Given the description of an element on the screen output the (x, y) to click on. 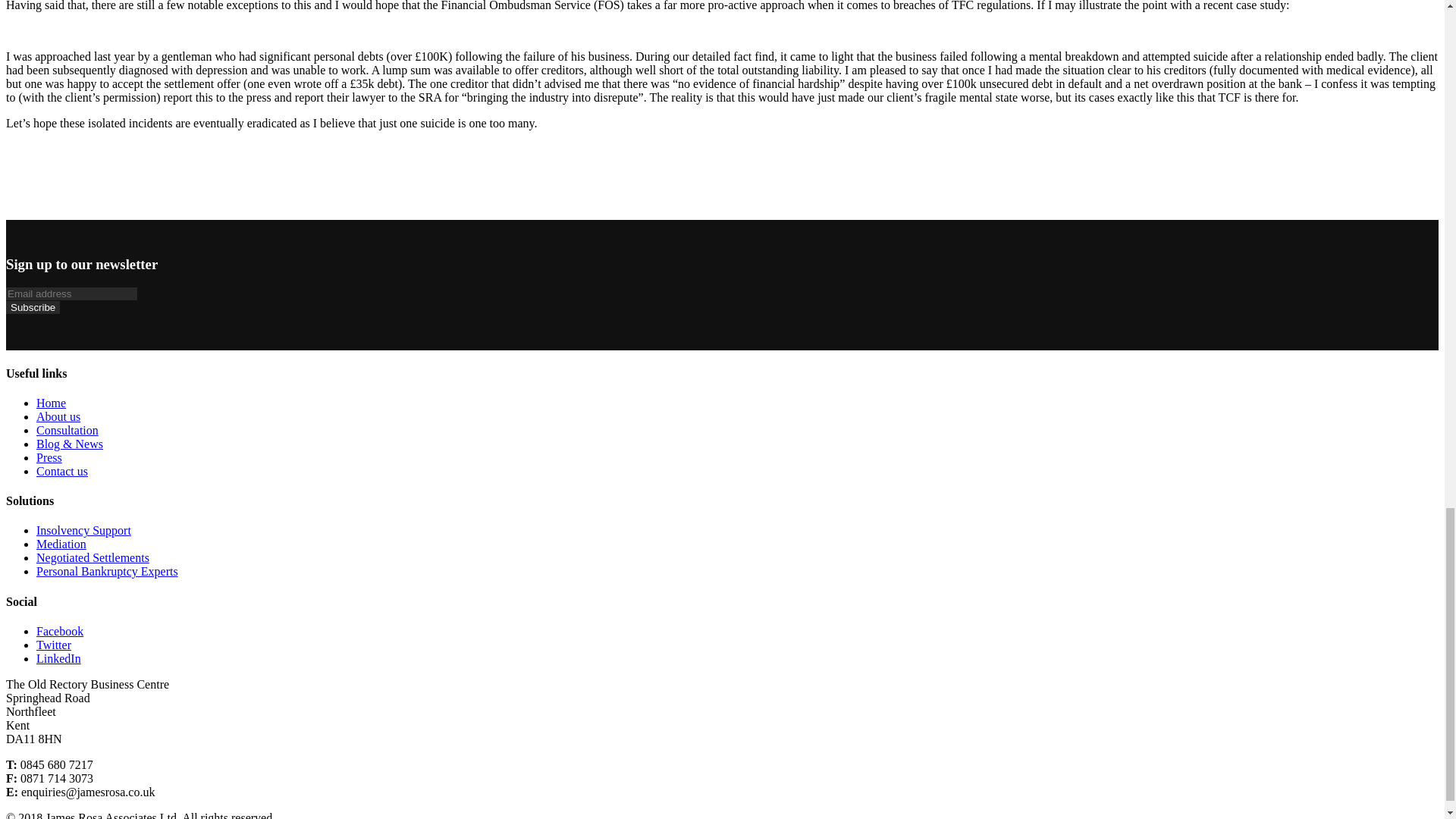
Subscribe (32, 307)
